Given the description of an element on the screen output the (x, y) to click on. 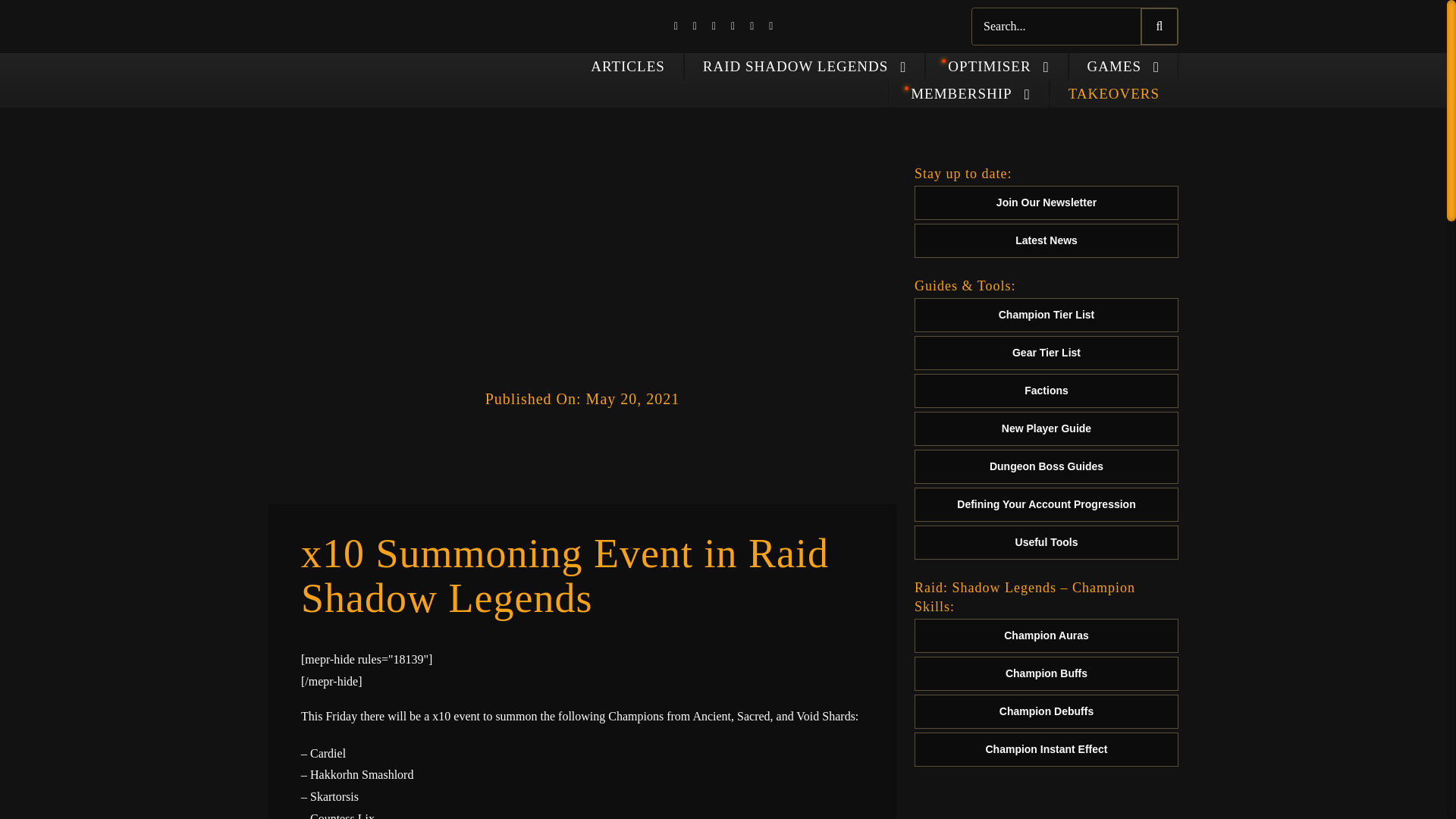
RAID SHADOW LEGENDS (805, 66)
ARTICLES (628, 66)
cardiel (582, 266)
